Given the description of an element on the screen output the (x, y) to click on. 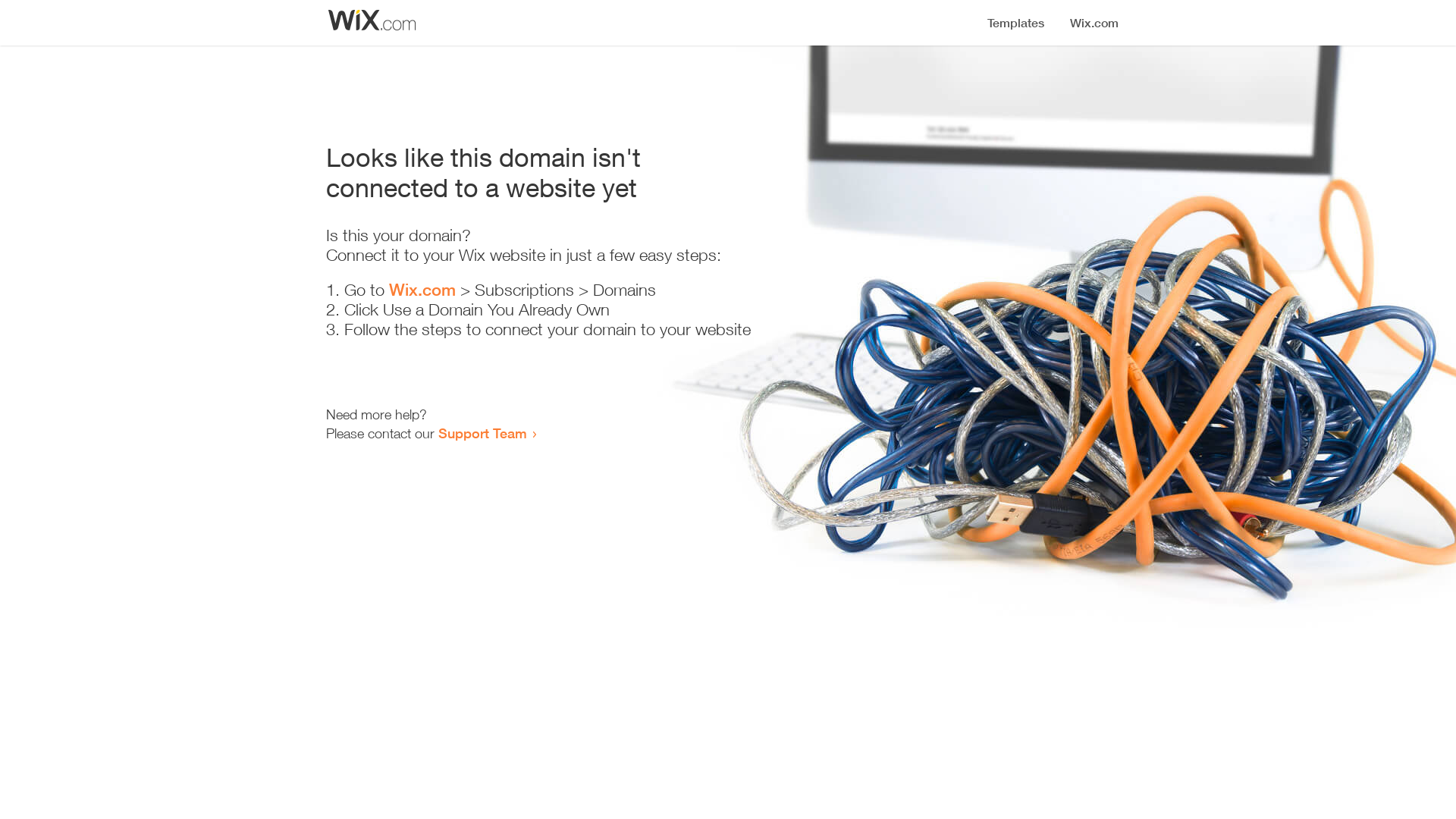
Wix.com Element type: text (422, 289)
Support Team Element type: text (482, 432)
